Given the description of an element on the screen output the (x, y) to click on. 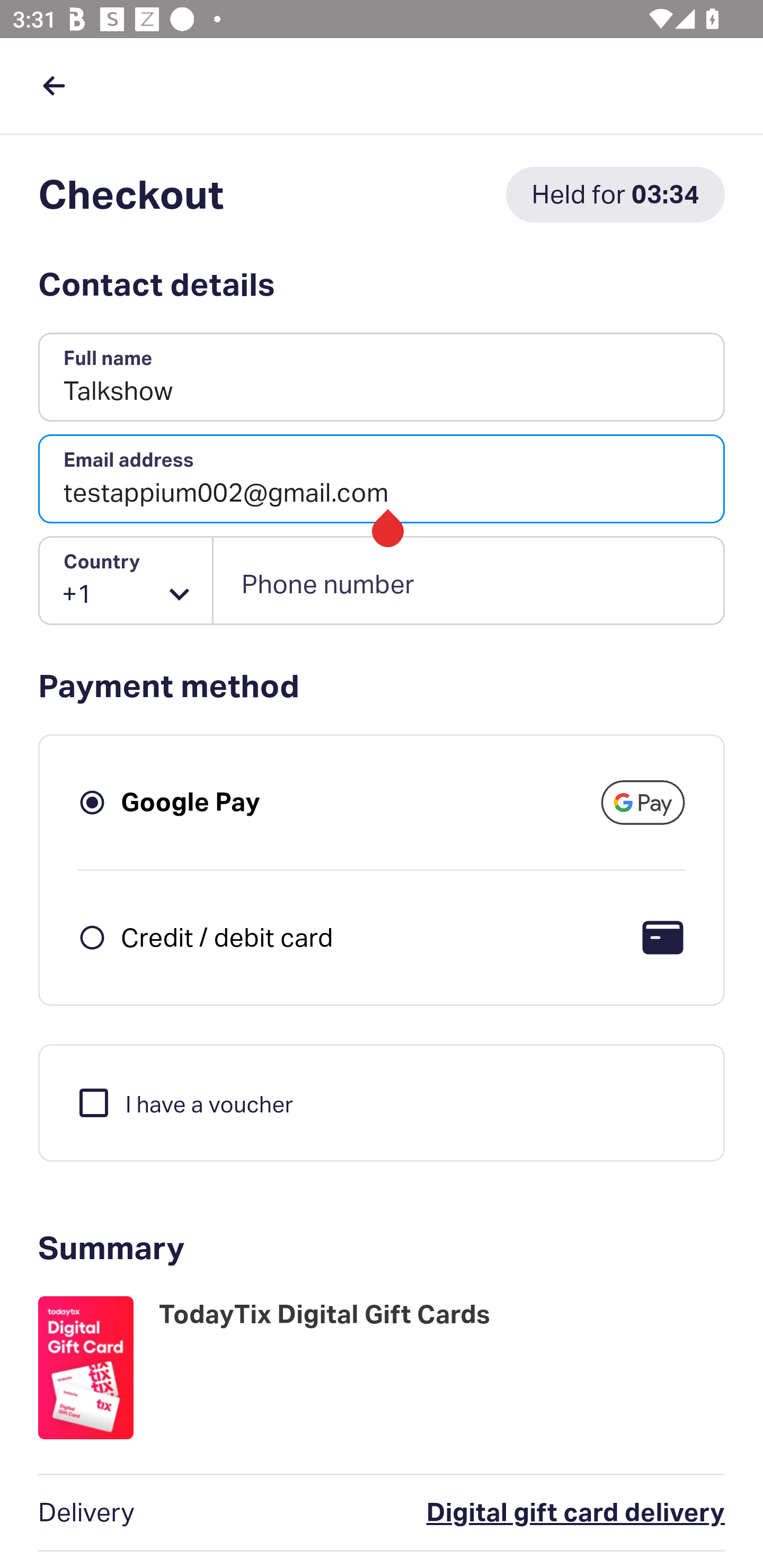
back button (53, 85)
Talkshow (381, 377)
testappium002@gmail.com (381, 478)
  +1 (126, 580)
Google Pay (190, 802)
Credit / debit card (227, 936)
I have a voucher (183, 1101)
Digital gift card delivery (495, 1512)
